Given the description of an element on the screen output the (x, y) to click on. 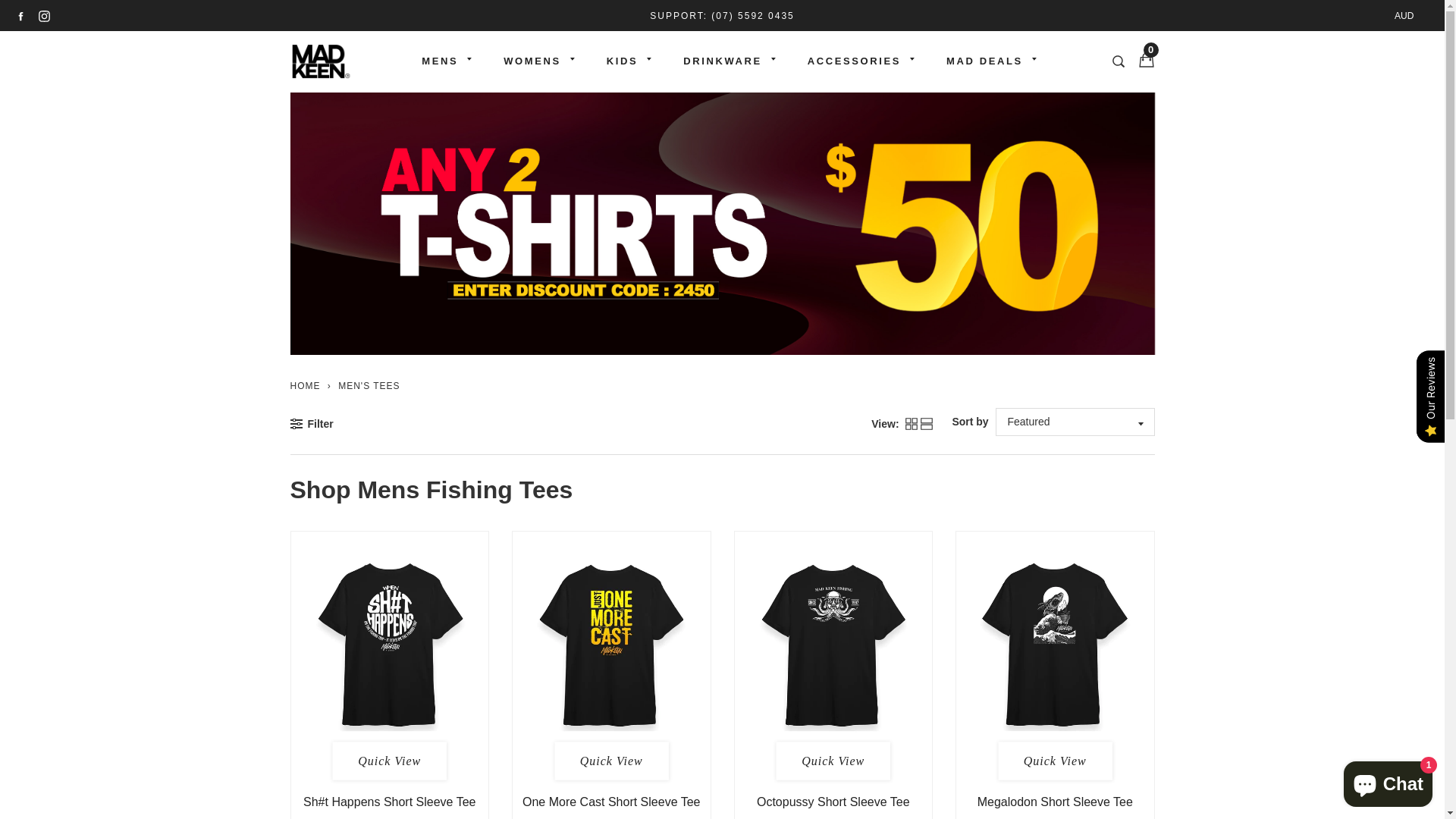
KIDS Element type: text (621, 61)
MAD DEALS Element type: text (984, 61)
MENS Element type: text (439, 61)
HOME Element type: text (304, 385)
Octopussy Short Sleeve Tee Element type: text (833, 801)
One More Cast Short Sleeve Tee Element type: text (611, 801)
FACEBOOK Element type: text (20, 15)
Shopify online store chat Element type: hover (1388, 780)
Megalodon Short Sleeve Tee Element type: text (1054, 801)
Quick View Element type: text (389, 761)
Quick View Element type: text (833, 761)
DRINKWARE Element type: text (722, 61)
0 Element type: text (1142, 60)
ACCESSORIES Element type: text (853, 61)
WOMENS Element type: text (531, 61)
Quick View Element type: text (1054, 761)
  Element type: text (323, 60)
Quick View Element type: text (611, 761)
SUPPORT: (07) 5592 0435 Element type: text (721, 15)
Sh#t Happens Short Sleeve Tee Element type: text (389, 801)
INSTAGRAM Element type: text (44, 15)
